Given the description of an element on the screen output the (x, y) to click on. 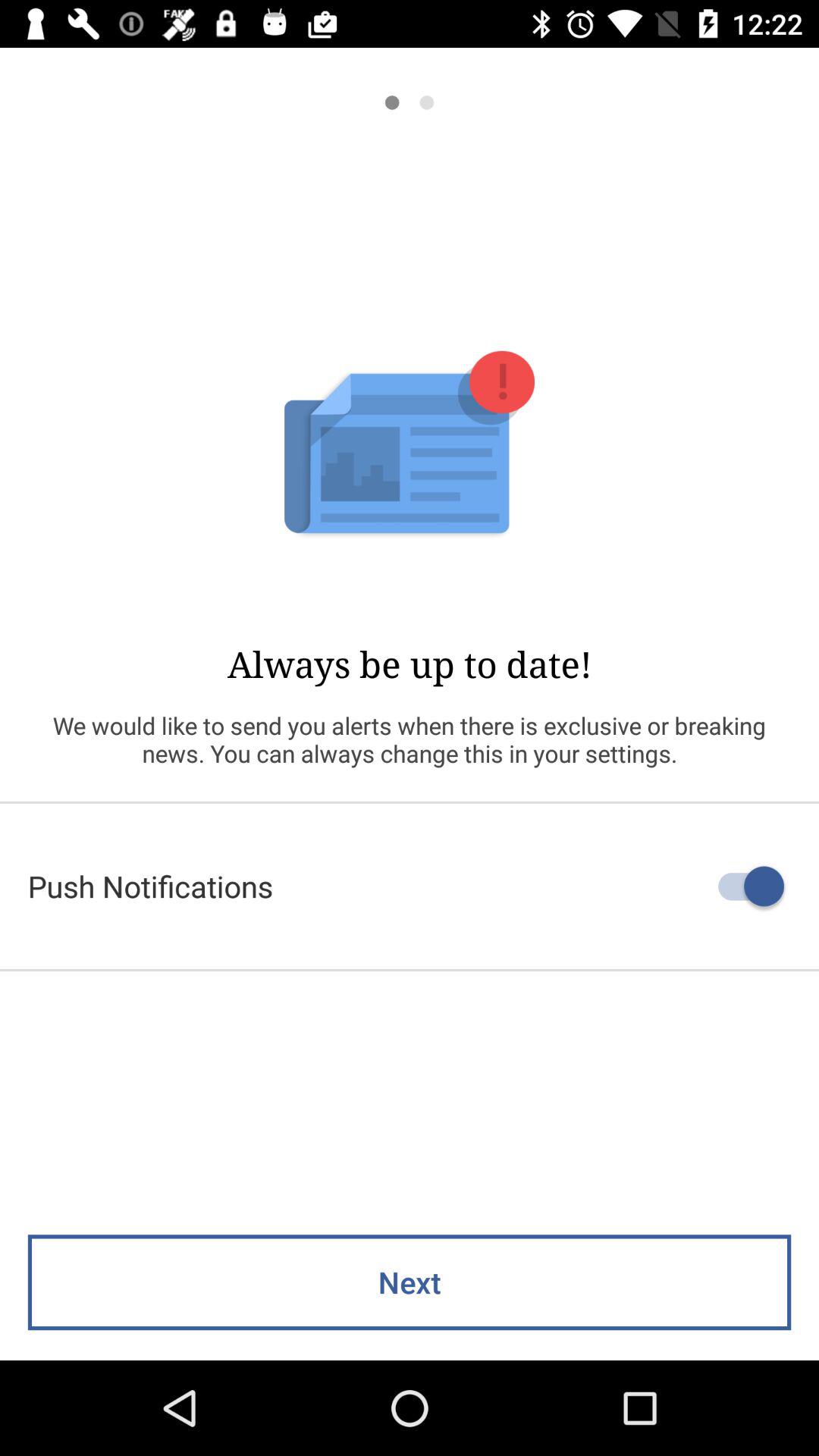
tap the next icon (409, 1282)
